Given the description of an element on the screen output the (x, y) to click on. 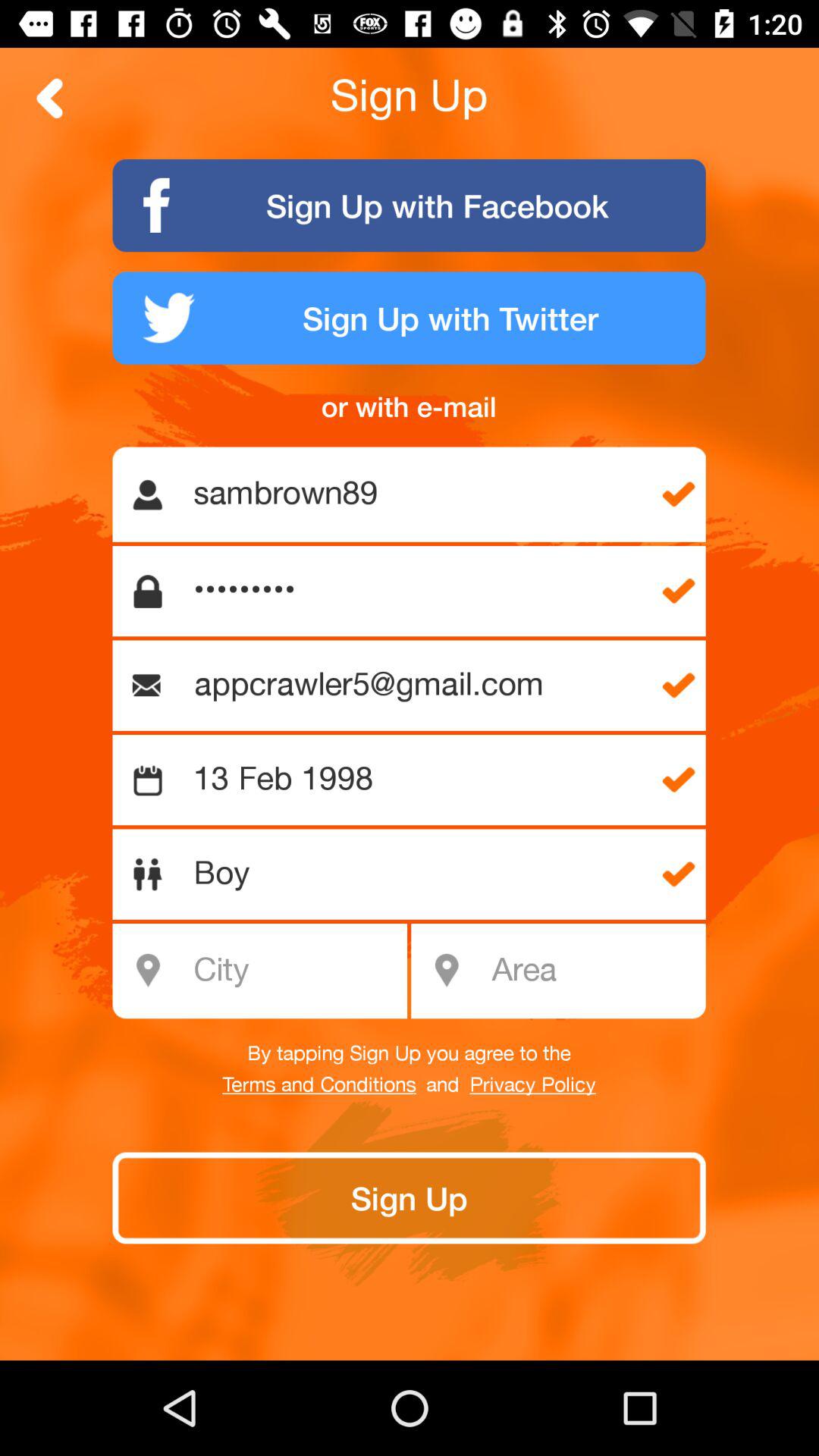
enter city field (268, 970)
